Given the description of an element on the screen output the (x, y) to click on. 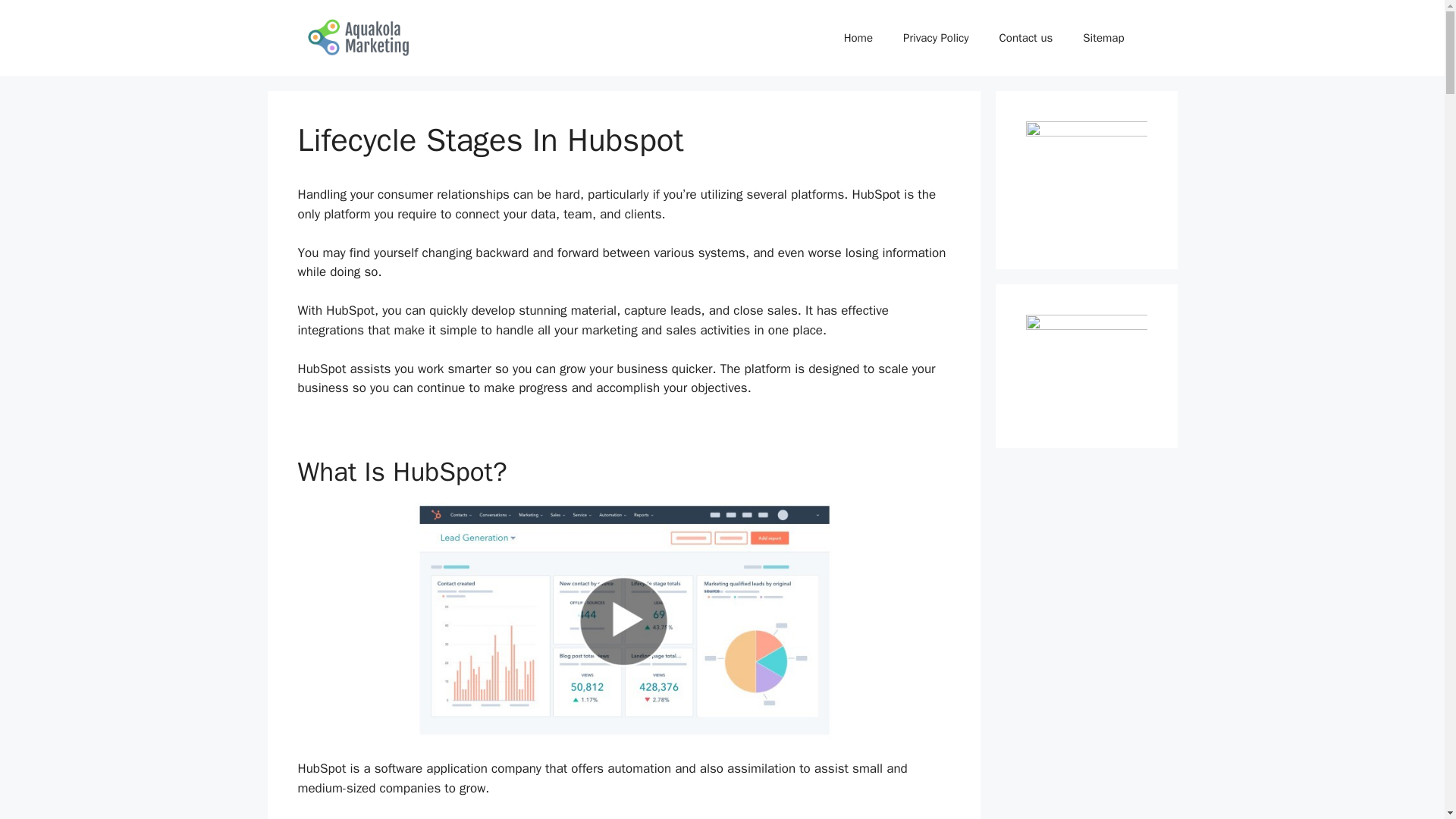
Home (858, 37)
Contact us (1026, 37)
Privacy Policy (936, 37)
Sitemap (1102, 37)
